Given the description of an element on the screen output the (x, y) to click on. 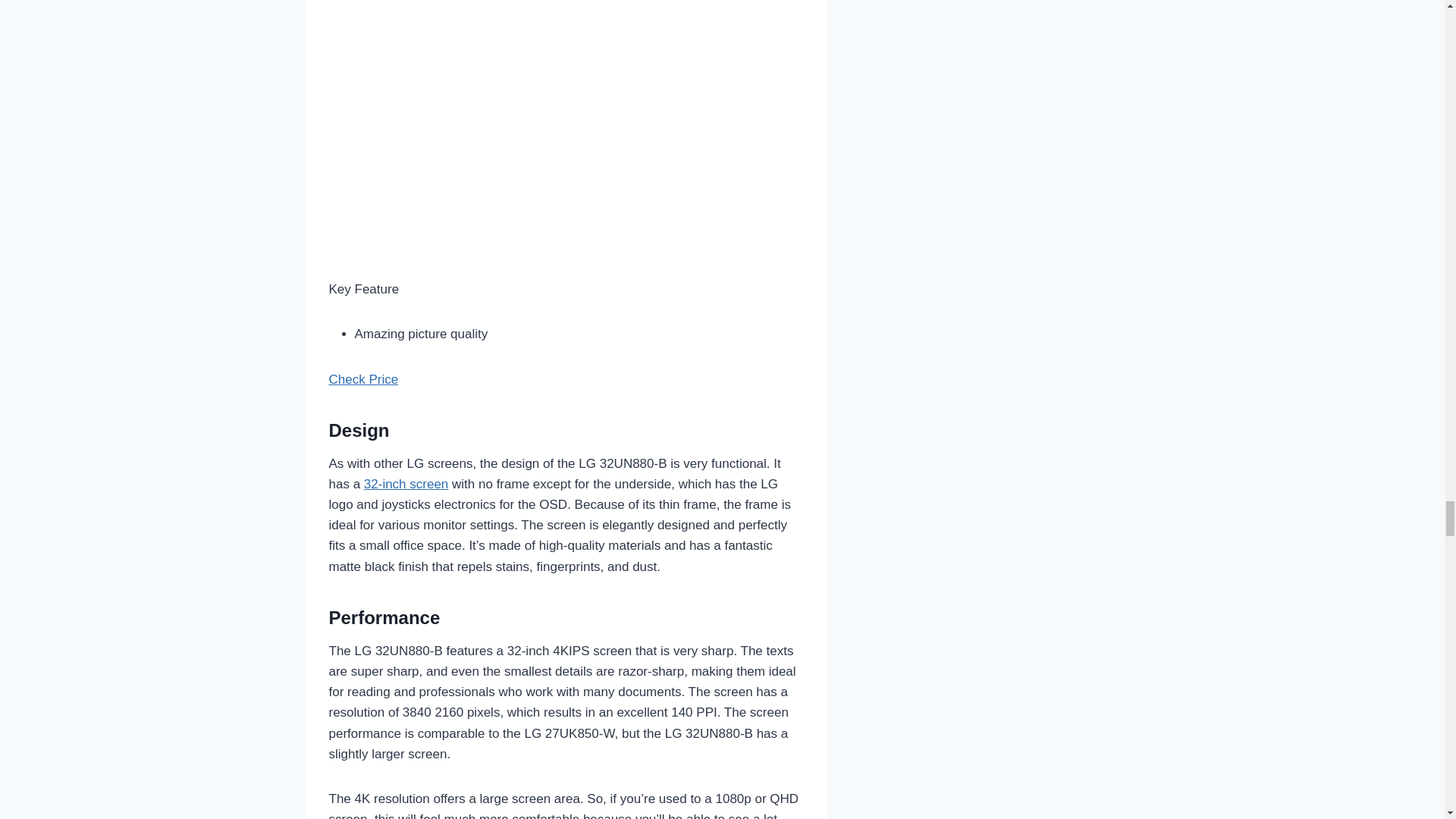
Check Price (363, 379)
32-inch screen (406, 483)
